Given the description of an element on the screen output the (x, y) to click on. 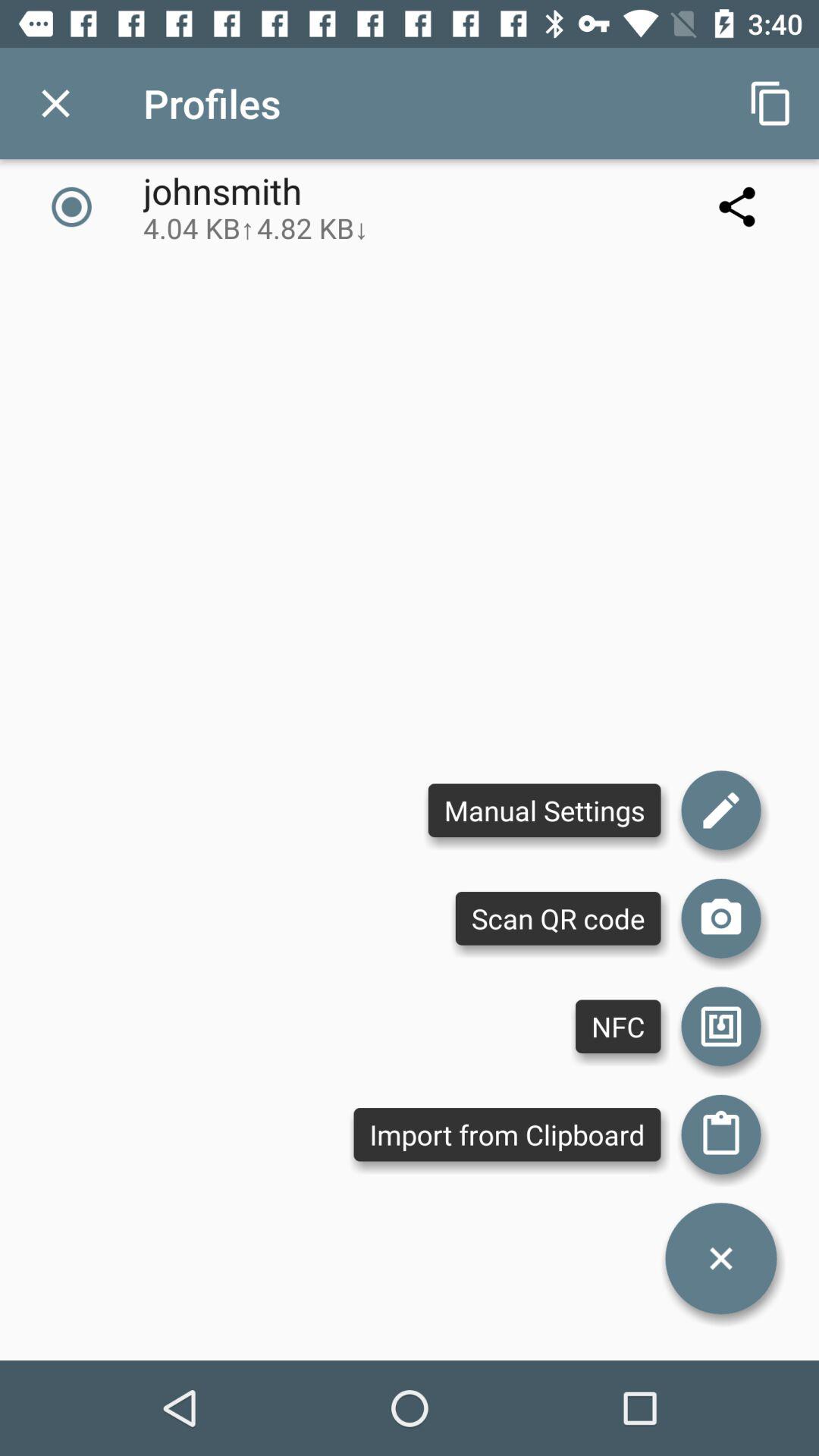
scan nfc (721, 1026)
